Given the description of an element on the screen output the (x, y) to click on. 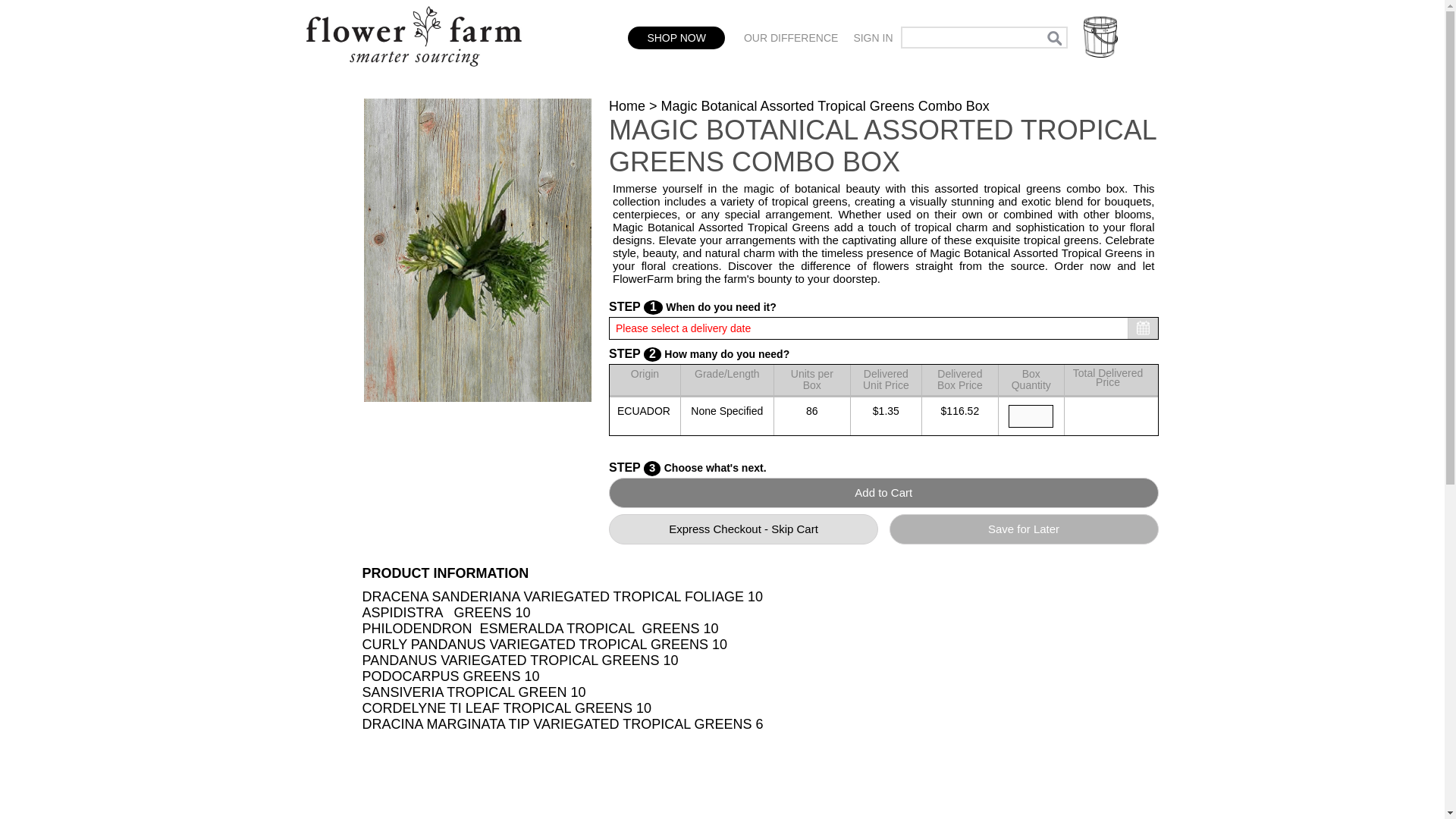
Add to Cart (883, 492)
SHOP NOW (676, 37)
FlowerFarm Wholesale Flowers (413, 73)
Express Checkout - Skip Cart (742, 529)
